Given the description of an element on the screen output the (x, y) to click on. 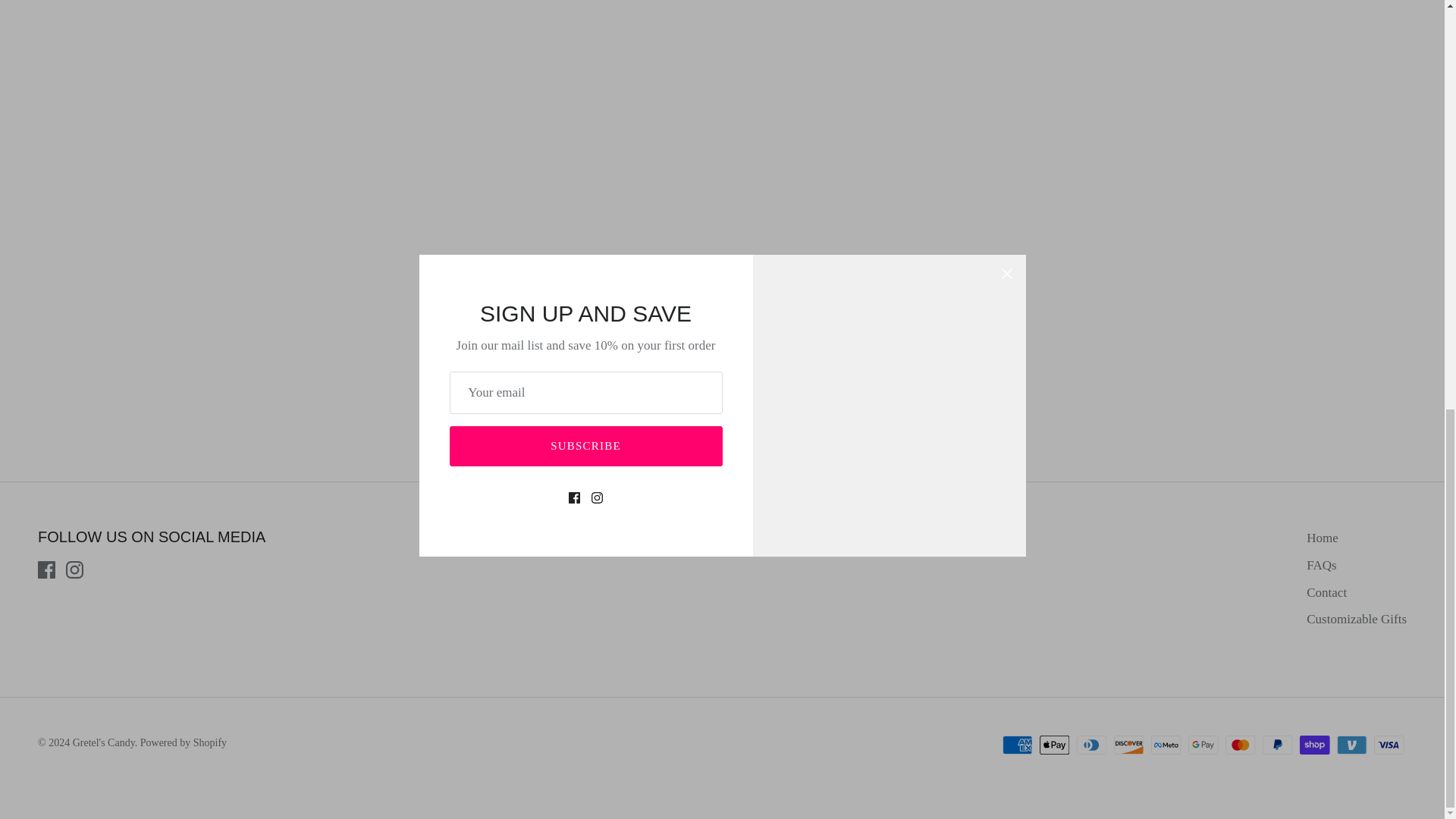
Venmo (1351, 744)
Visa (1388, 744)
PayPal (1277, 744)
Apple Pay (1054, 744)
Discover (1128, 744)
Shop Pay (1314, 744)
Google Pay (1203, 744)
Diners Club (1091, 744)
Facebook (46, 569)
Meta Pay (1165, 744)
